Given the description of an element on the screen output the (x, y) to click on. 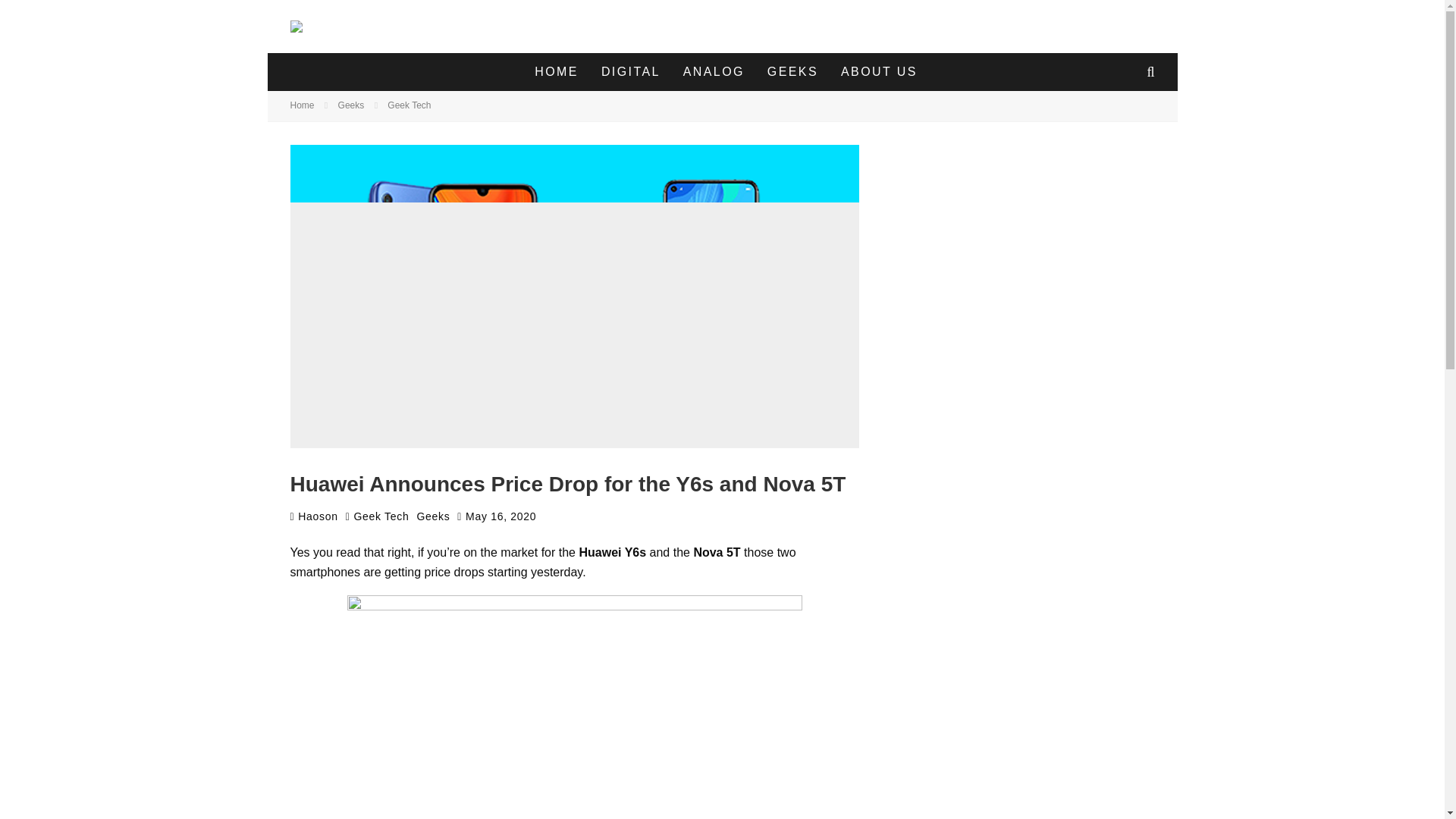
Home (301, 104)
Geeks (432, 516)
Haoson (313, 516)
Geek Tech (381, 516)
Geeks (351, 104)
HOME (555, 71)
ANALOG (713, 71)
Geek Tech (408, 104)
DIGITAL (630, 71)
ABOUT US (878, 71)
GEEKS (792, 71)
